Given the description of an element on the screen output the (x, y) to click on. 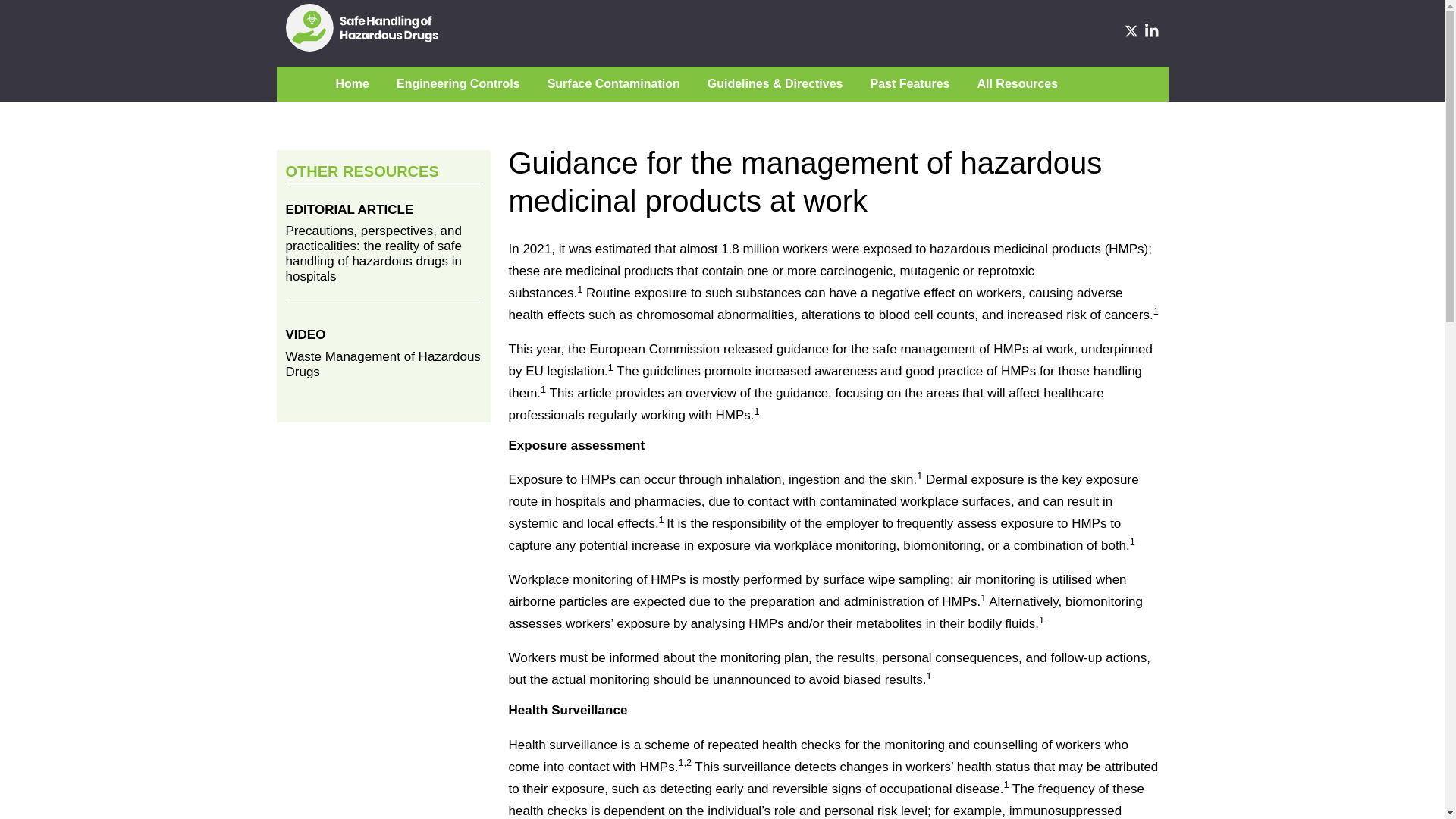
All Resources (1017, 83)
Surface Contamination (613, 83)
Waste Management of Hazardous Drugs (382, 370)
Home (351, 83)
Past Features (910, 83)
Engineering Controls (457, 83)
